Given the description of an element on the screen output the (x, y) to click on. 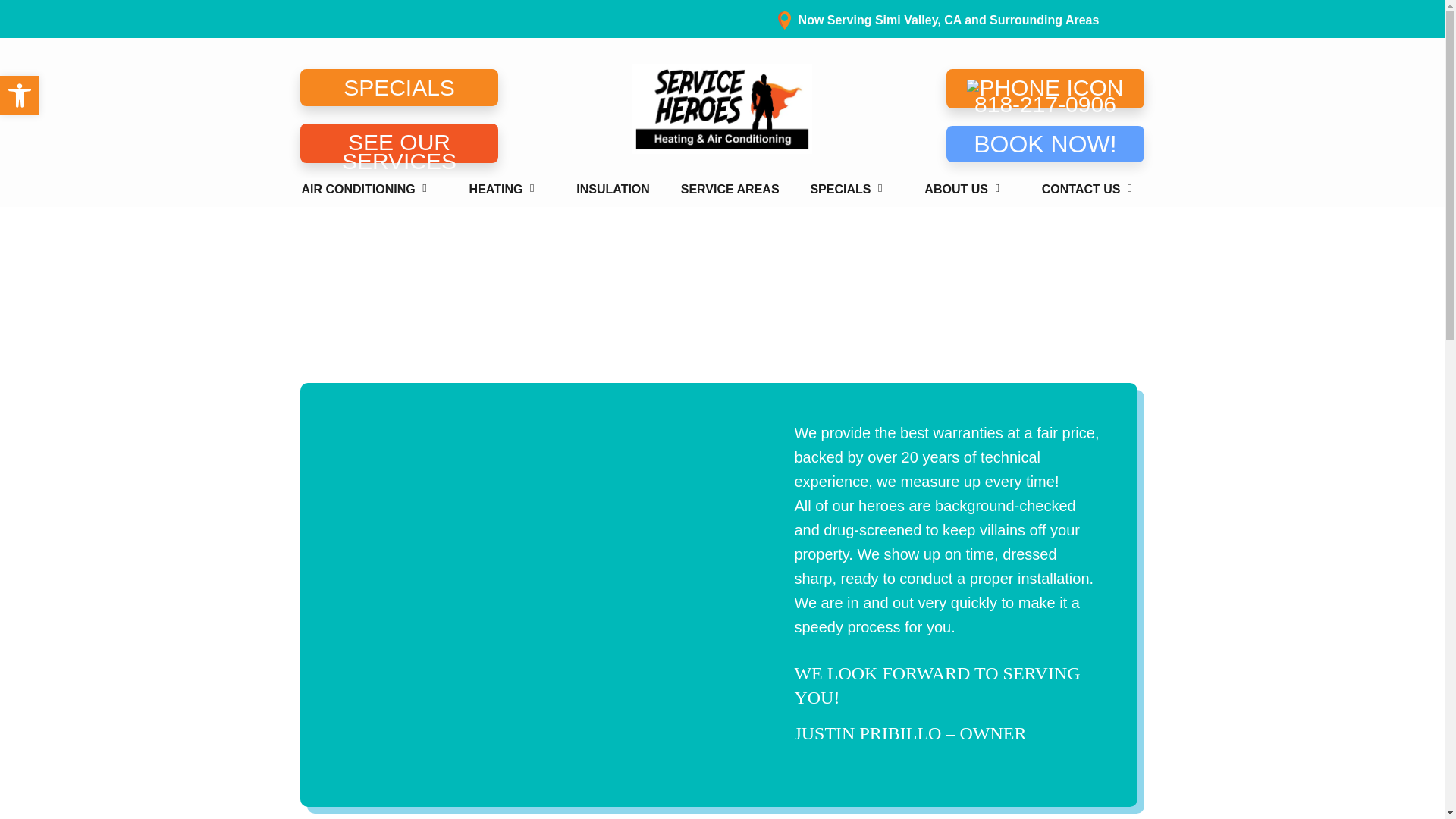
SERVICE AREAS (729, 189)
ABOUT US (967, 189)
BOOK NOW! (1045, 144)
SPECIALS (398, 87)
HEATING (507, 189)
SEE OUR SERVICES (398, 142)
CONTACT US (1092, 189)
Accessibility Tools (19, 95)
INSULATION (612, 189)
SPECIALS (851, 189)
